Given the description of an element on the screen output the (x, y) to click on. 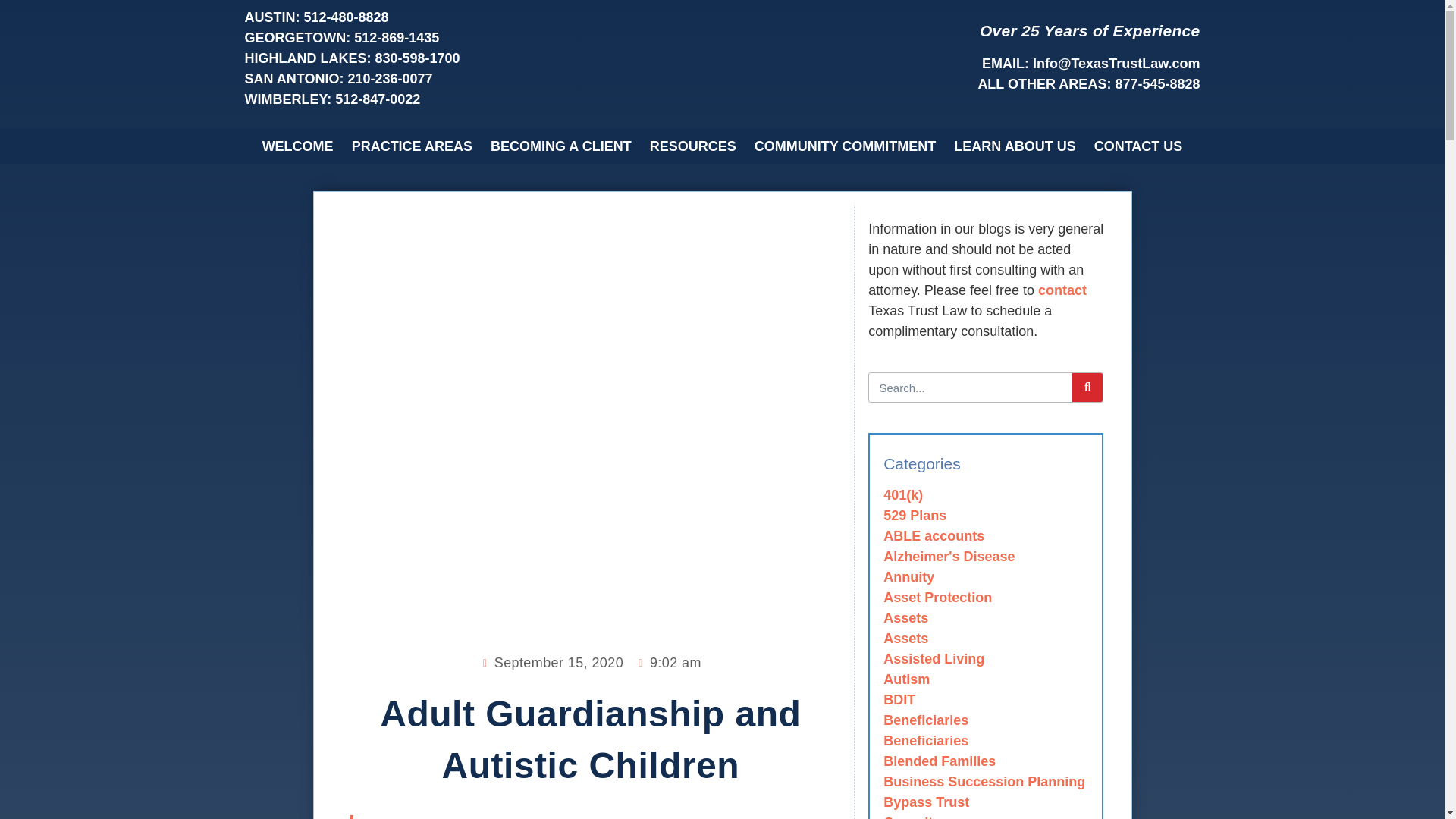
BECOMING A CLIENT (560, 145)
HIGHLAND LAKES: 830-598-1700 (479, 58)
PRACTICE AREAS (411, 145)
SAN ANTONIO: 210-236-0077 (479, 78)
AUSTIN: 512-480-8828 (479, 17)
WIMBERLEY: 512-847-0022 (479, 99)
ALL OTHER AREAS: 877-545-8828 (964, 84)
RESOURCES (692, 145)
WELCOME (297, 145)
GEORGETOWN: 512-869-1435 (479, 37)
